Given the description of an element on the screen output the (x, y) to click on. 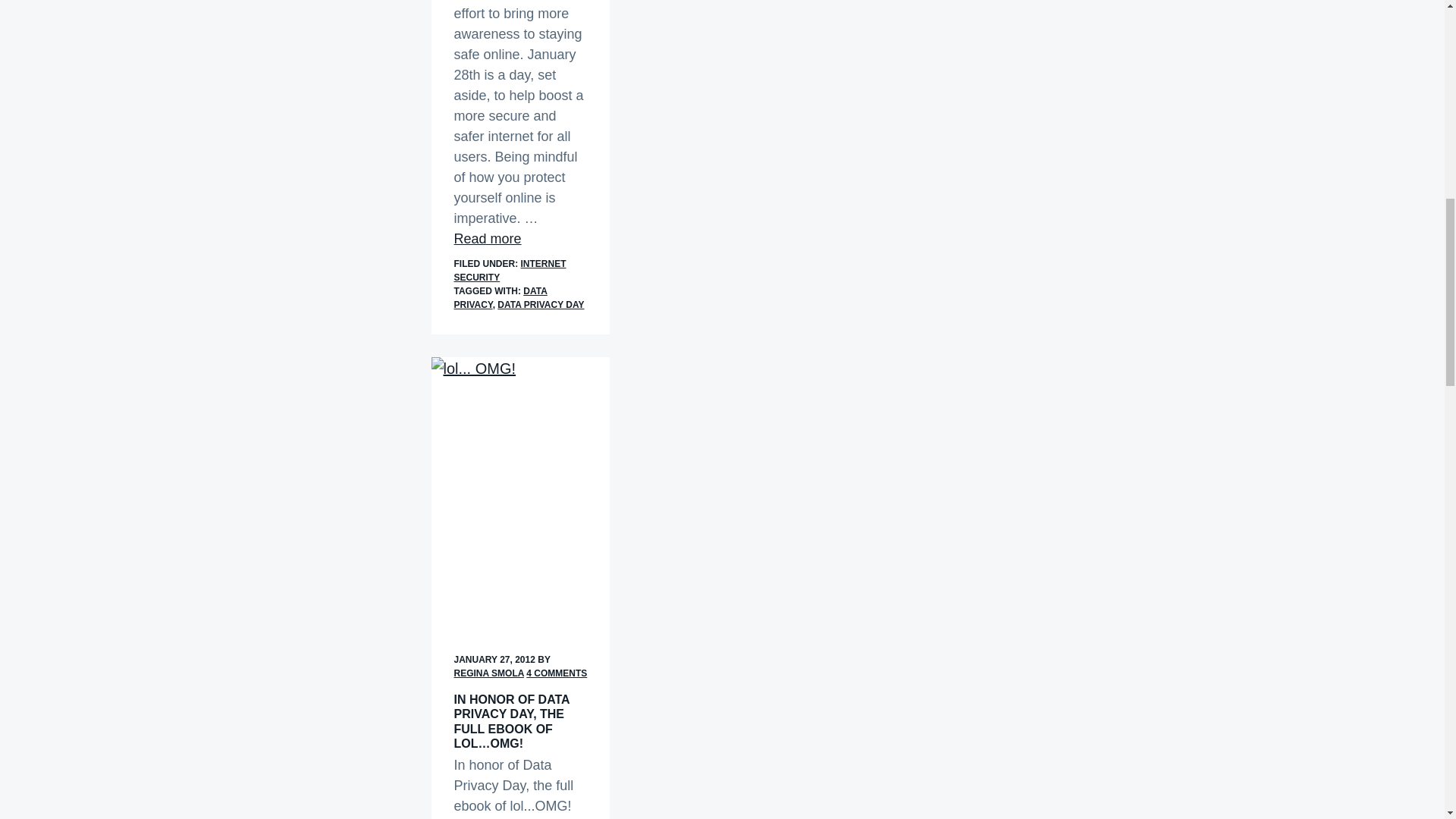
INTERNET SECURITY (509, 270)
REGINA SMOLA (487, 673)
4 COMMENTS (555, 673)
DATA PRIVACY DAY (540, 304)
DATA PRIVACY (499, 297)
